Given the description of an element on the screen output the (x, y) to click on. 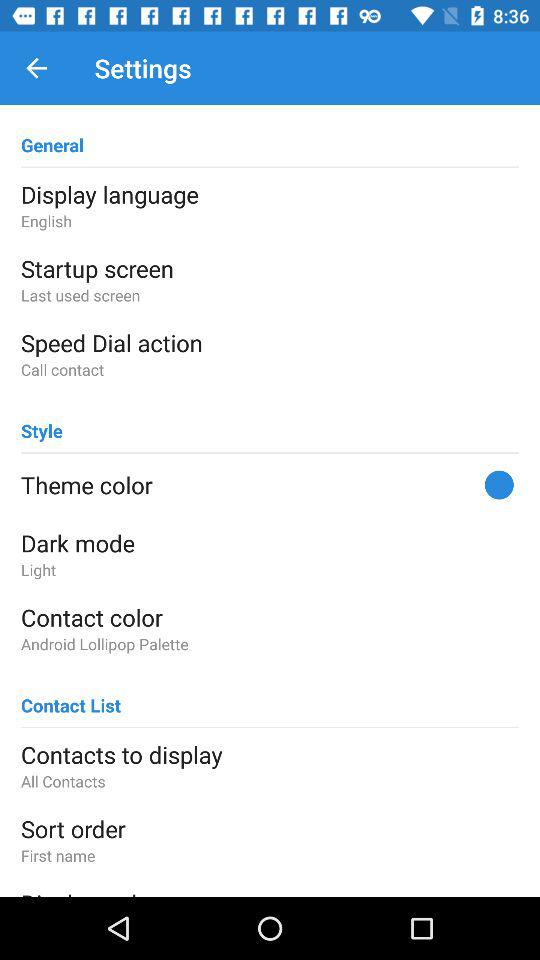
press icon below contact color (270, 643)
